Given the description of an element on the screen output the (x, y) to click on. 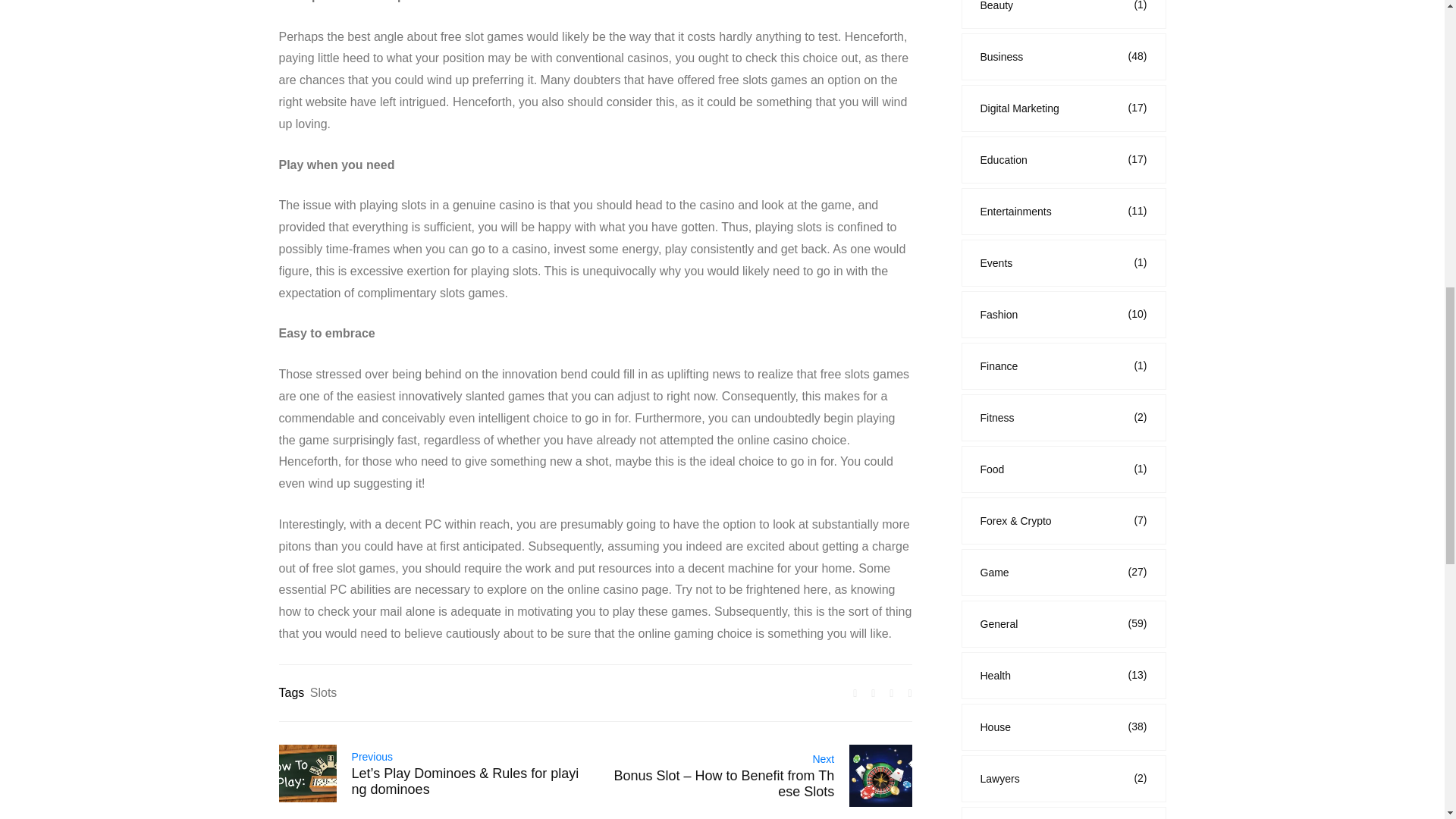
Next (823, 758)
Slots (323, 692)
Previous (372, 756)
